Given the description of an element on the screen output the (x, y) to click on. 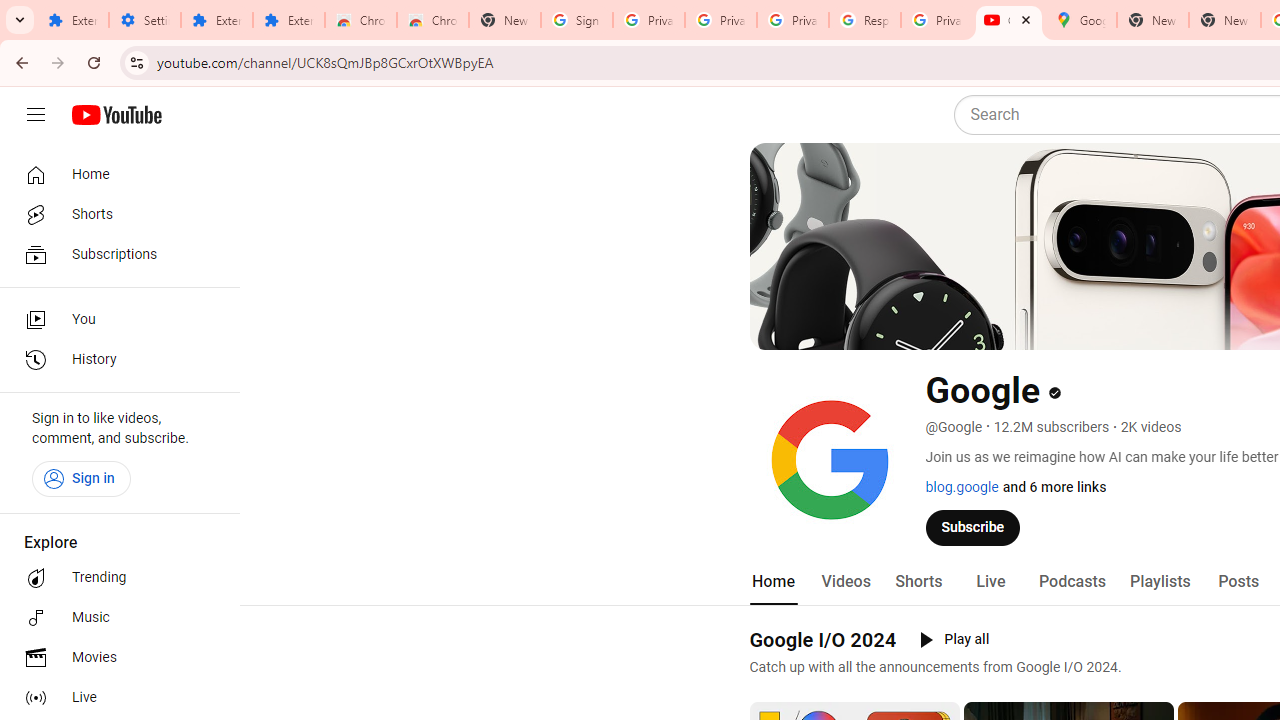
YouTube Home (116, 115)
Chrome Web Store - Themes (432, 20)
New Tab (1224, 20)
Trending (113, 578)
Sign in - Google Accounts (577, 20)
Guide (35, 115)
Extensions (216, 20)
Play all (954, 640)
